Given the description of an element on the screen output the (x, y) to click on. 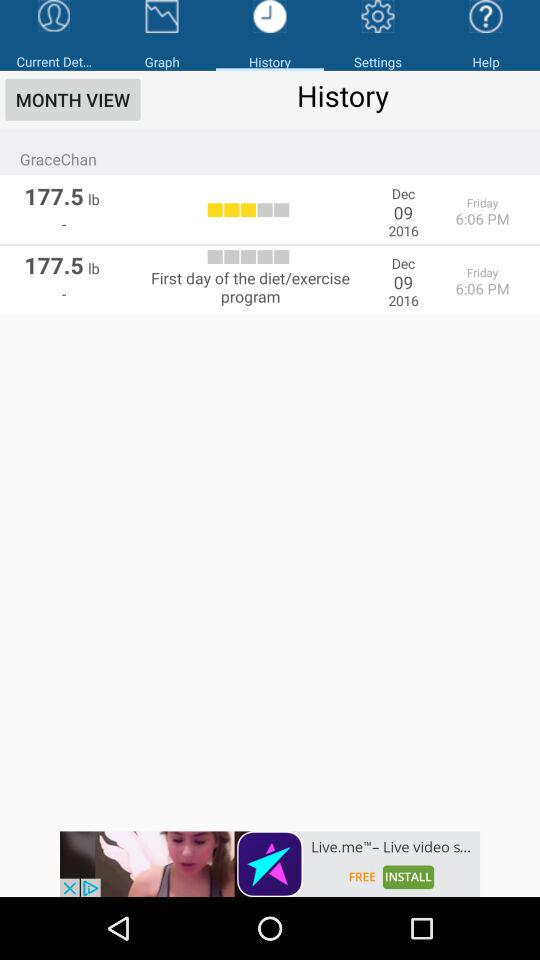
advertisement (270, 864)
